Given the description of an element on the screen output the (x, y) to click on. 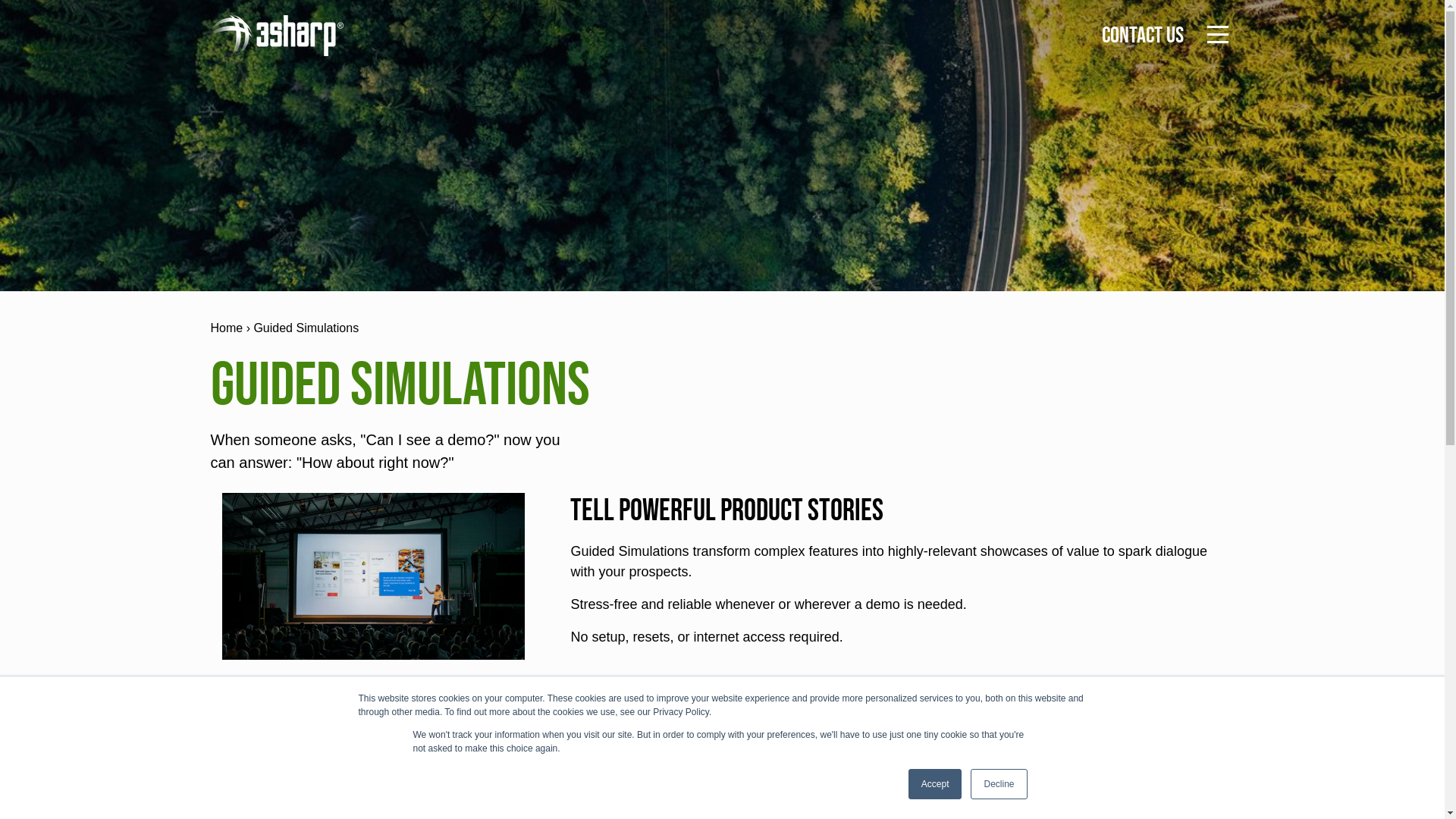
CONTACT US Element type: text (1142, 35)
Decline Element type: text (998, 783)
Accept Element type: text (935, 783)
Home Element type: text (226, 327)
